Given the description of an element on the screen output the (x, y) to click on. 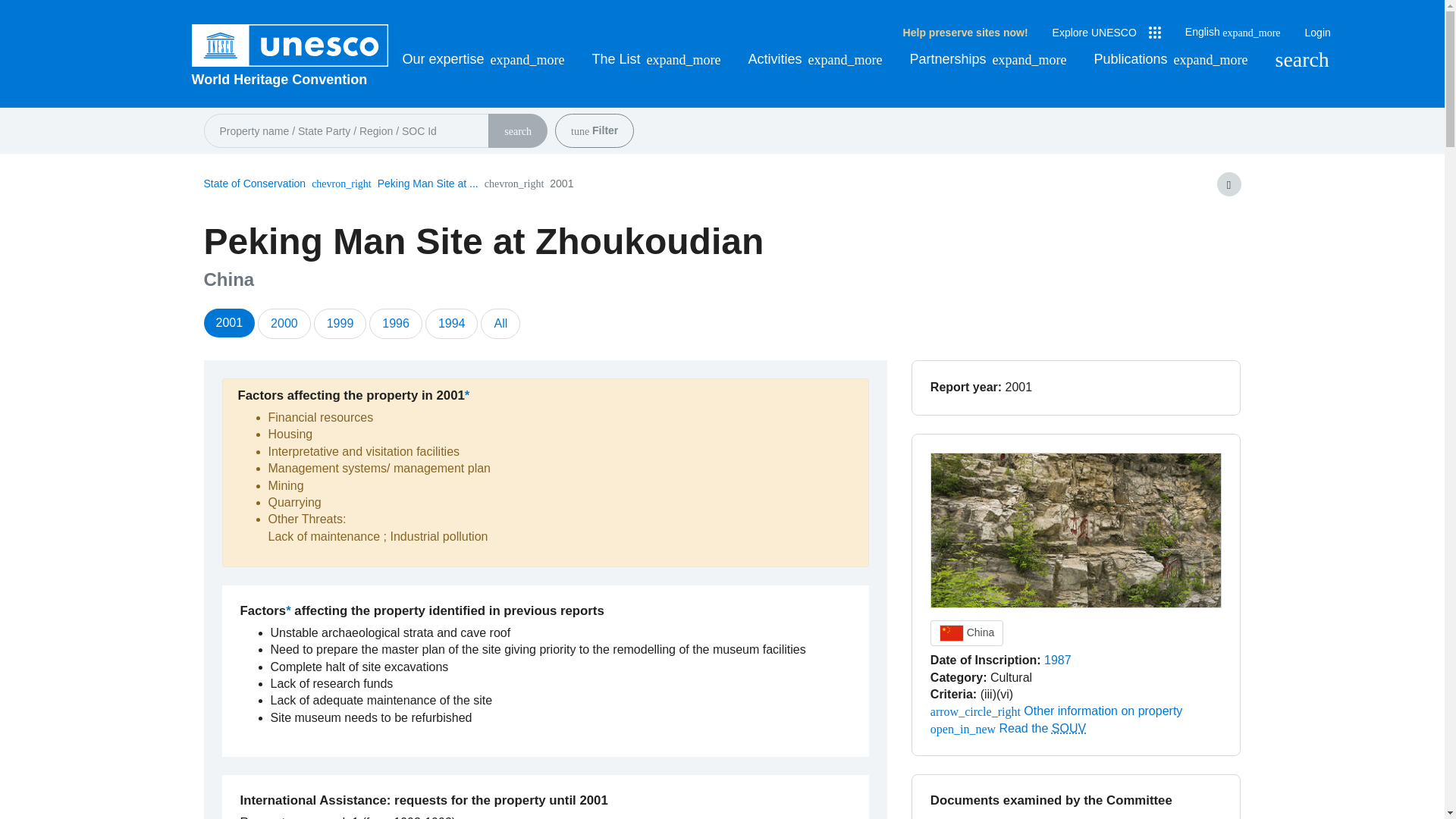
The List (656, 58)
Search (1302, 59)
English (1233, 32)
Login (1317, 32)
Help preserve sites now! (964, 32)
Explore UNESCO (1106, 32)
Statement of Outstanding Universal Value (1068, 727)
Our expertise (482, 58)
Filter your search (579, 131)
World Heritage Convention (289, 79)
